Given the description of an element on the screen output the (x, y) to click on. 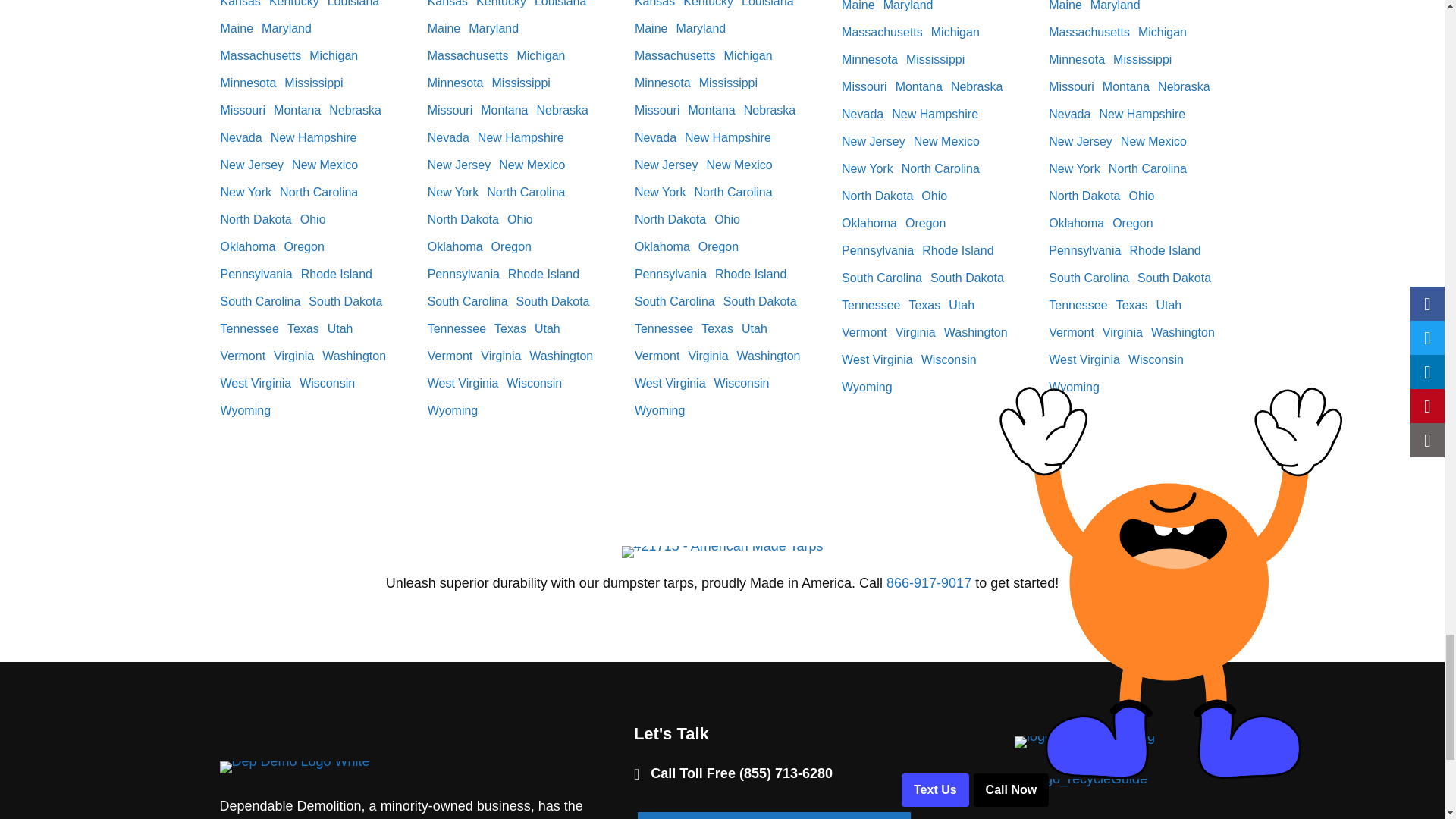
Dep Demo Logo White (294, 767)
